Given the description of an element on the screen output the (x, y) to click on. 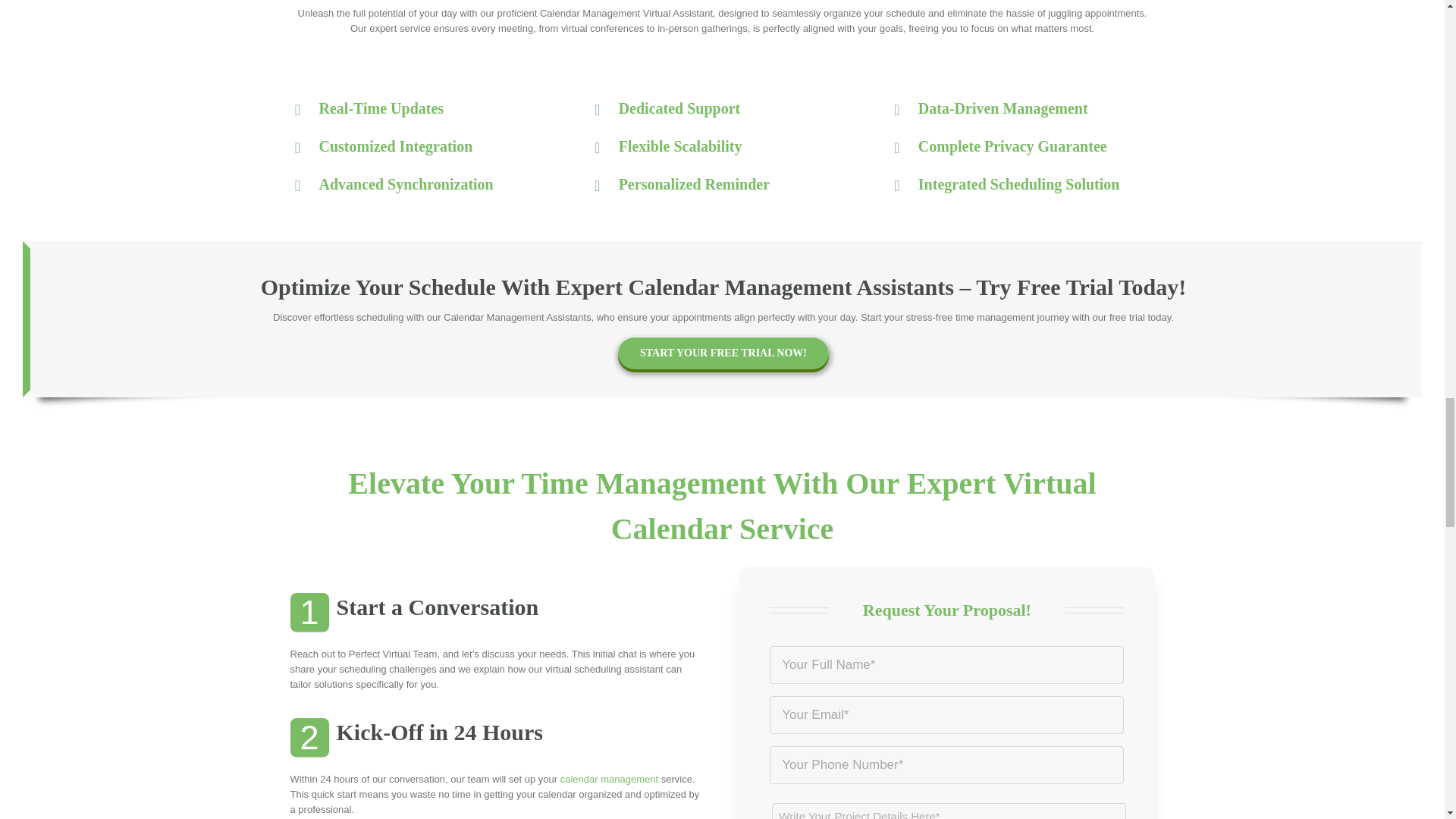
Real-Time Updates (421, 108)
